Given the description of an element on the screen output the (x, y) to click on. 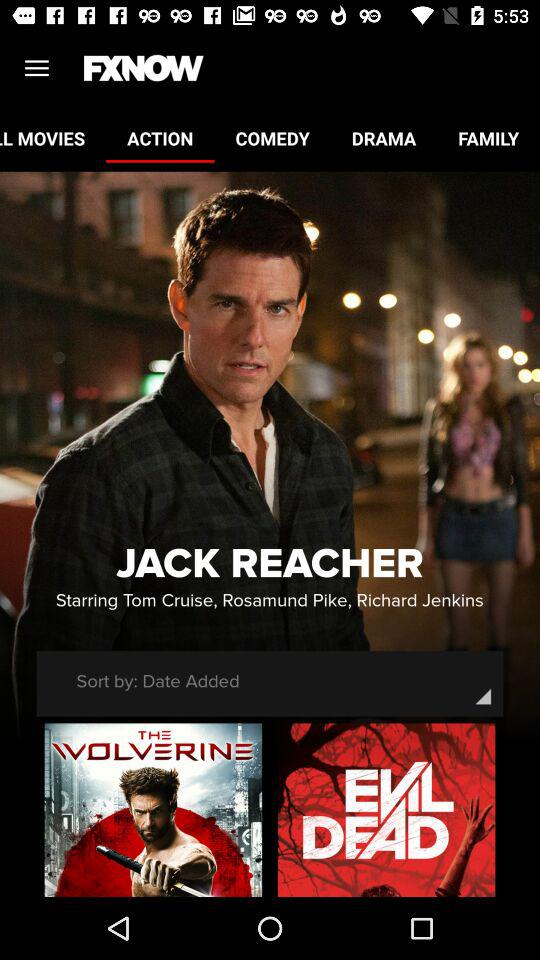
turn on item to the right of the all movies (160, 138)
